Given the description of an element on the screen output the (x, y) to click on. 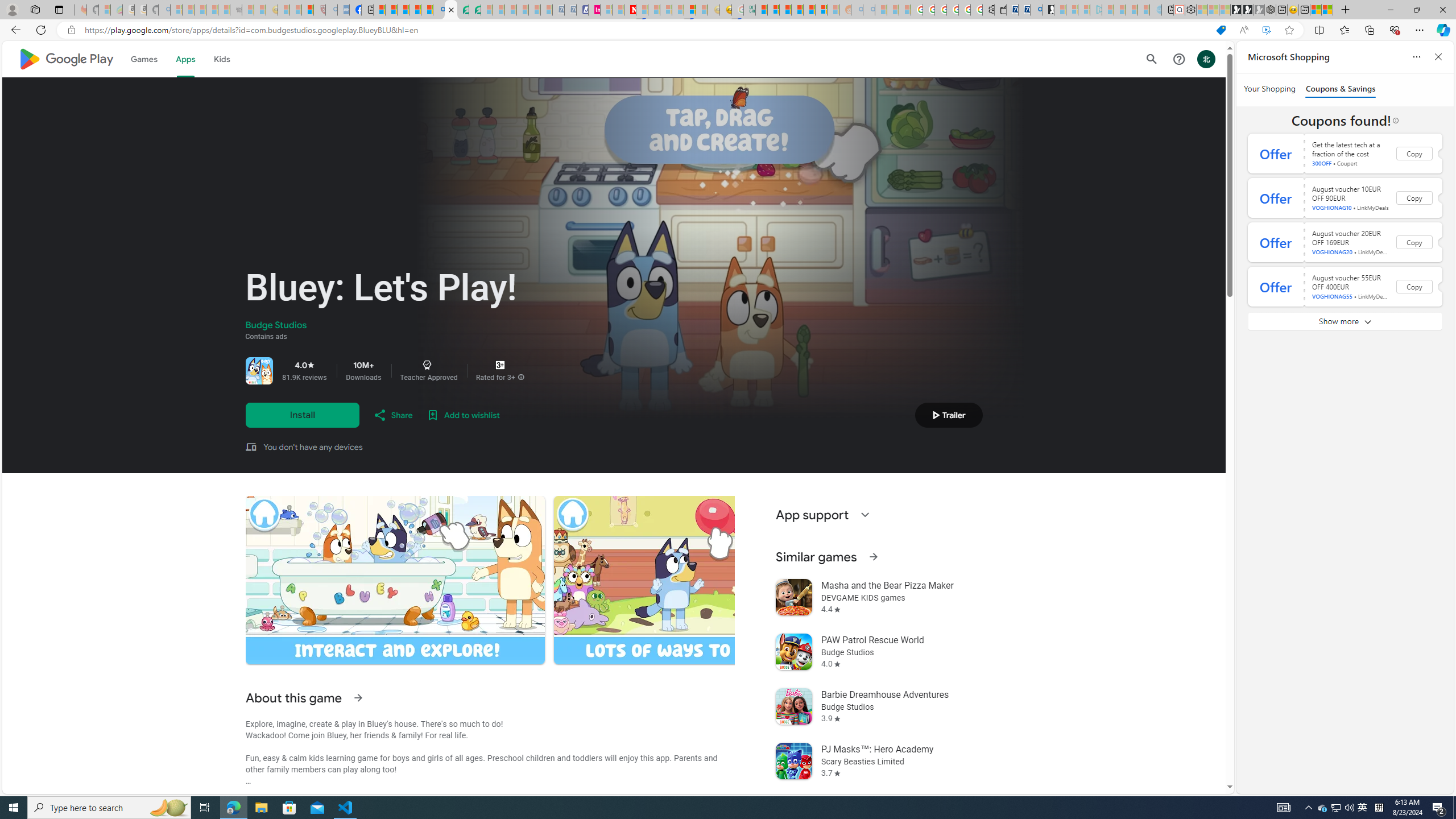
Kids (220, 58)
Google Play logo (65, 58)
Cheap Car Rentals - Save70.com - Sleeping (558, 9)
Wildlife - MSN (1315, 9)
Bluey: Let's Play! - Apps on Google Play (450, 9)
Play trailer (948, 414)
NCL Adult Asthma Inhaler Choice Guideline - Sleeping (343, 9)
14 Common Myths Debunked By Scientific Facts - Sleeping (654, 9)
list of asthma inhalers uk - Search - Sleeping (331, 9)
